Given the description of an element on the screen output the (x, y) to click on. 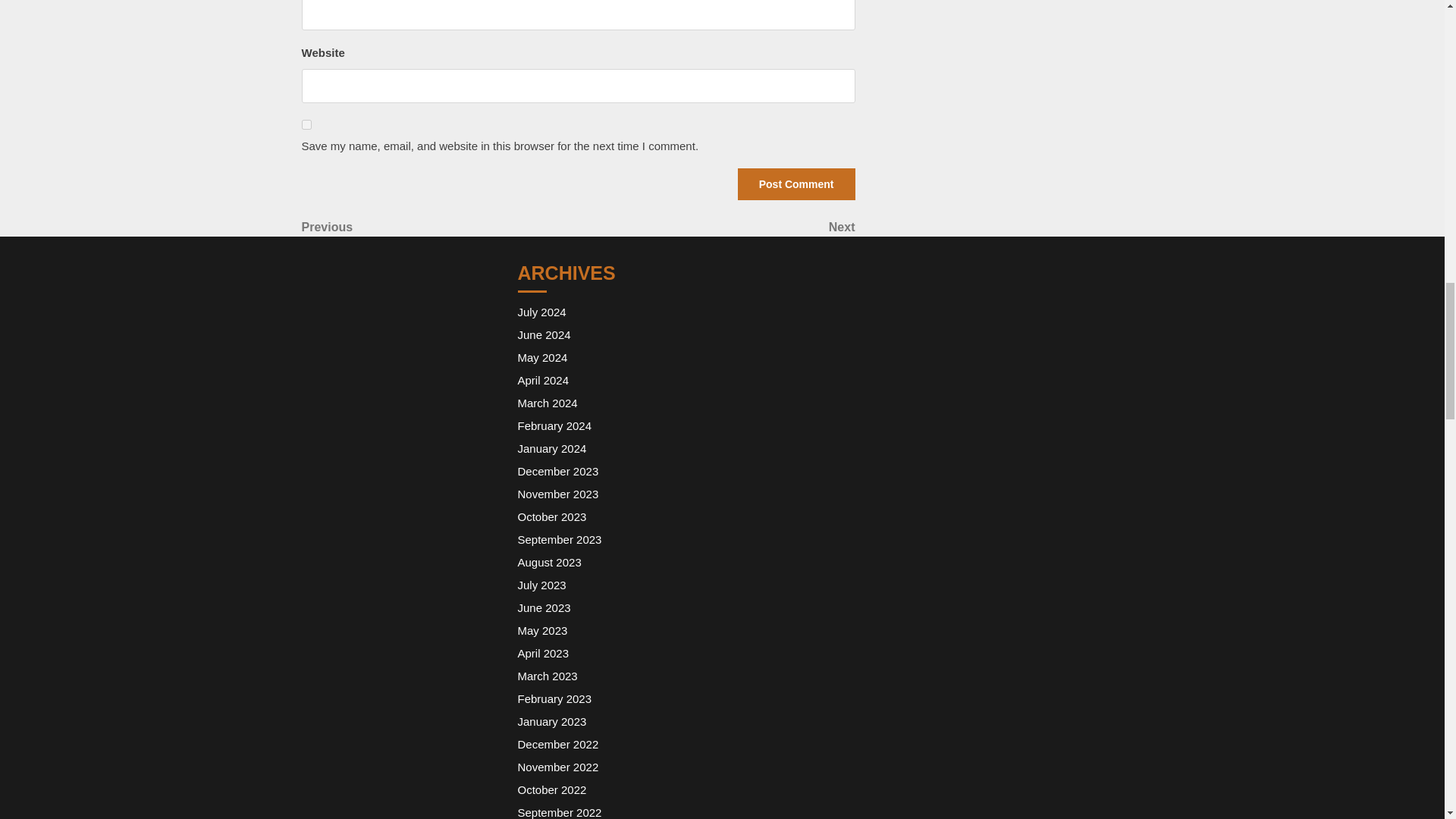
May 2024 (541, 357)
July 2024 (541, 311)
yes (306, 124)
June 2024 (543, 334)
February 2024 (716, 227)
Post Comment (439, 227)
March 2024 (553, 425)
Post Comment (797, 183)
April 2024 (546, 402)
January 2024 (797, 183)
